Given the description of an element on the screen output the (x, y) to click on. 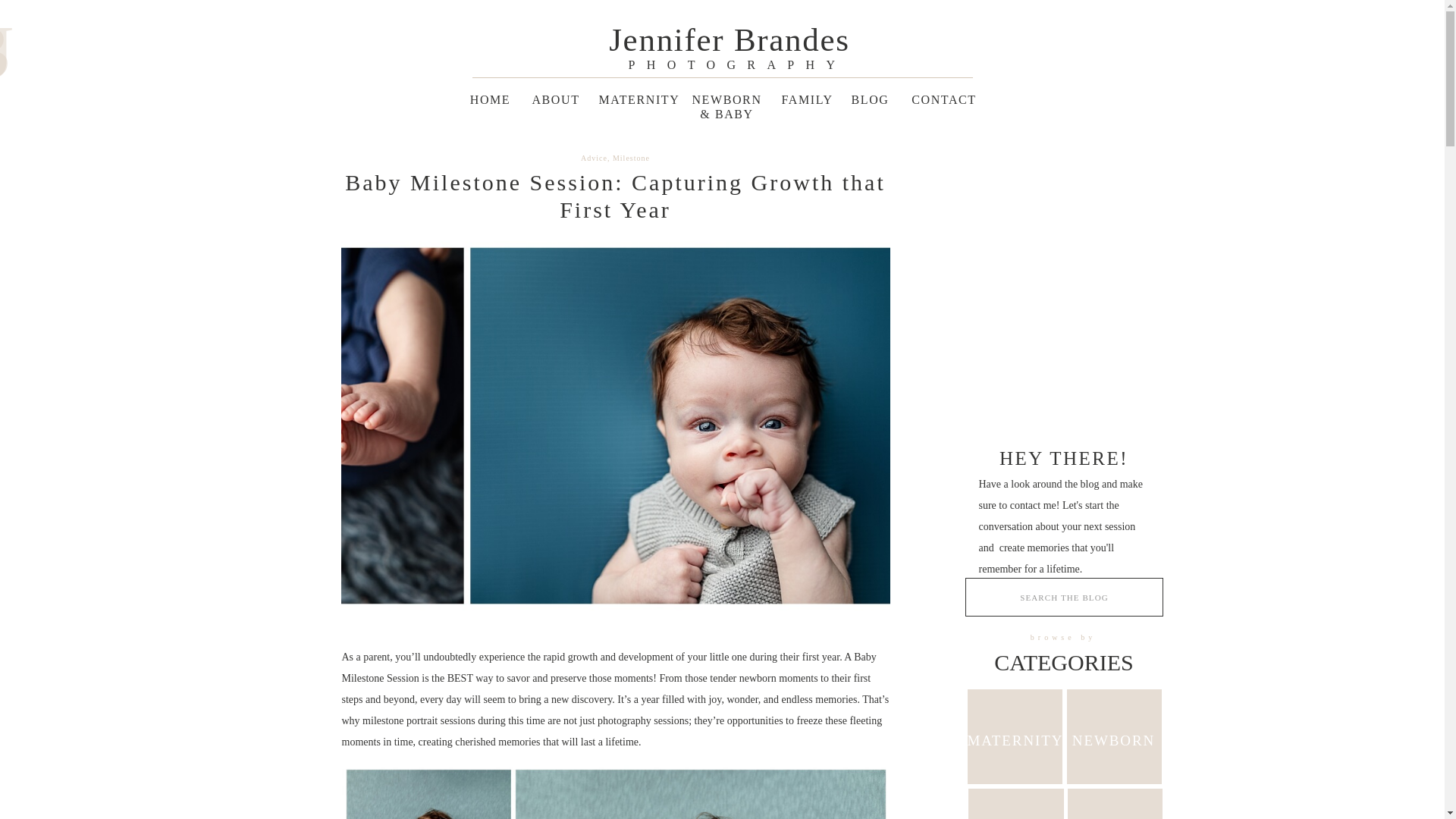
HOME (489, 97)
NEWBORN (1112, 738)
BLOG (870, 98)
MATERNITY (634, 98)
Milestone (630, 157)
Advice (593, 157)
CONTACT (943, 98)
Jennifer Brandes (729, 39)
FAMILY (804, 97)
ABOUT (555, 98)
MATERNITY (1014, 736)
